Given the description of an element on the screen output the (x, y) to click on. 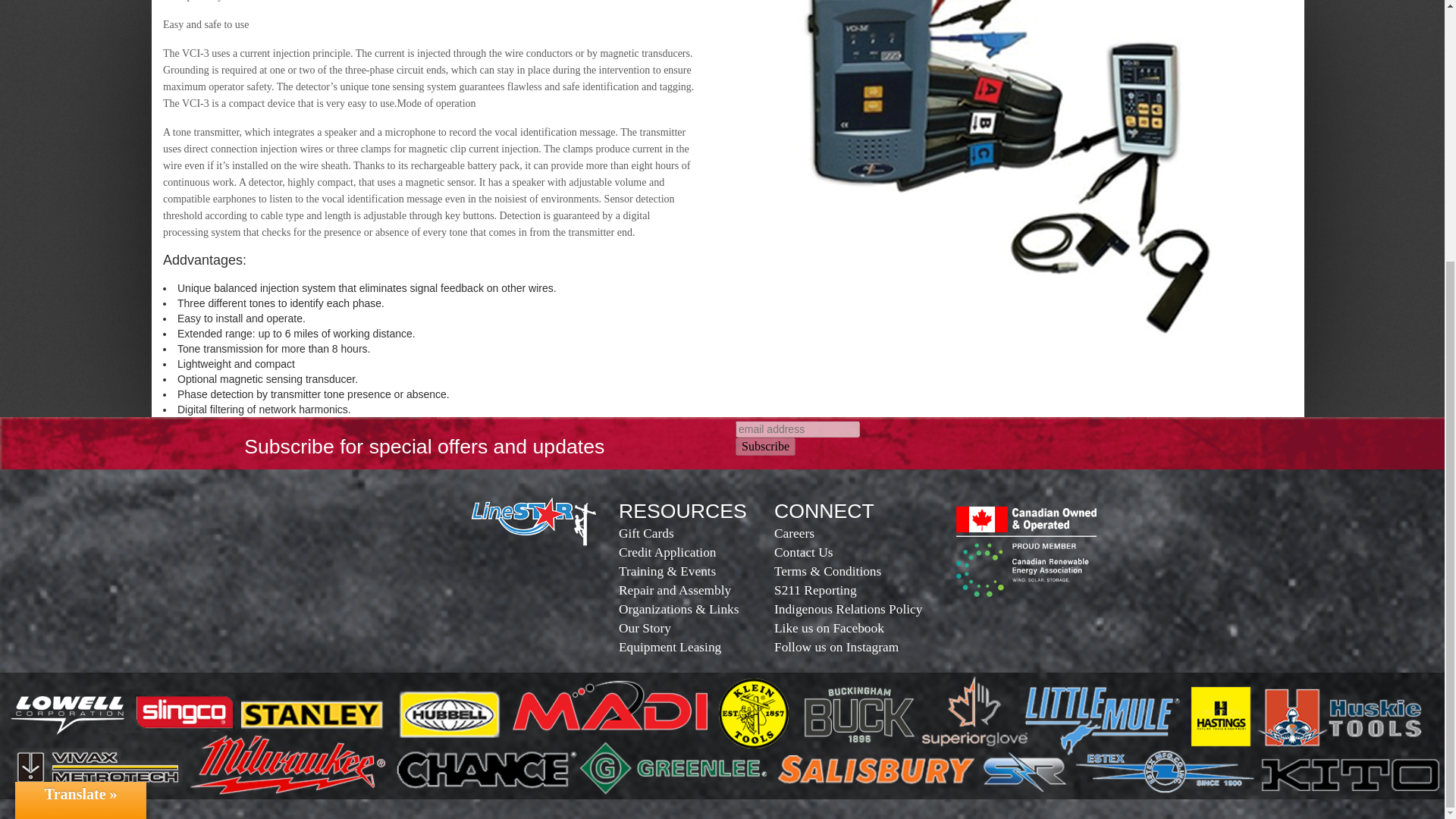
Indigenous Relations Policy (857, 607)
LineStar Career Opportunities (857, 531)
LineStar Gift cards (702, 531)
LineStar Contact Us (857, 550)
Our Story (702, 626)
S211 LineStar Report (857, 588)
Our Story (702, 645)
Subscribe (764, 446)
LineStar Credit Application (702, 550)
